Given the description of an element on the screen output the (x, y) to click on. 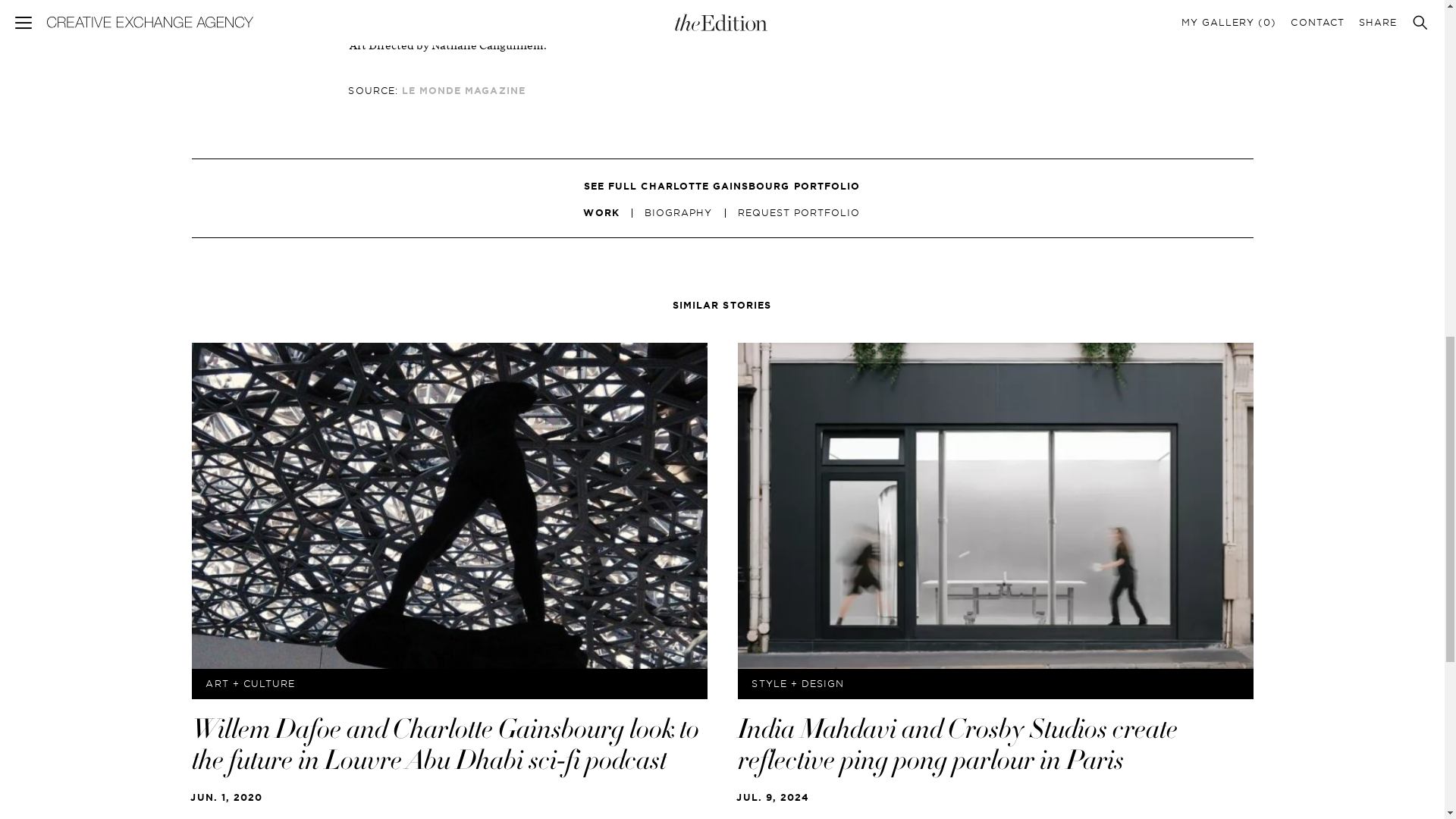
REQUEST PORTFOLIO (799, 212)
Le Monde Magazine (487, 14)
BIOGRAPHY (678, 212)
Email (1058, 7)
LE MONDE MAGAZINE (463, 90)
WORK (600, 212)
SEE FULL CHARLOTTE GAINSBOURG PORTFOLIO (721, 185)
